Given the description of an element on the screen output the (x, y) to click on. 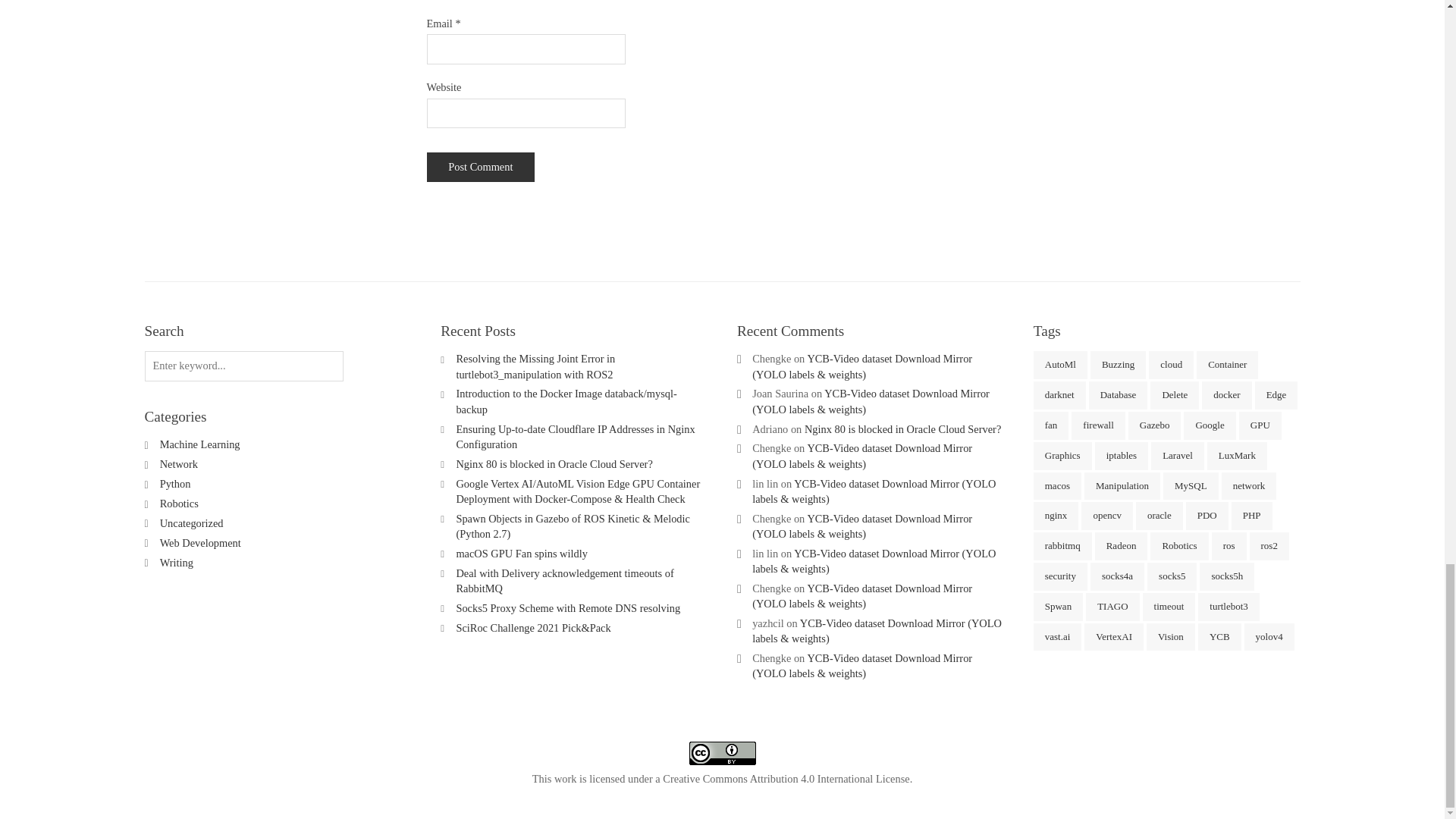
Post Comment (480, 166)
Post Comment (480, 166)
Python (175, 483)
Machine Learning (200, 444)
Deal with Delivery acknowledgement timeouts of RabbitMQ (563, 580)
Robotics (179, 503)
Uncategorized (192, 522)
macOS GPU Fan spins wildly (521, 553)
Nginx 80 is blocked in Oracle Cloud Server? (553, 463)
Socks5 Proxy Scheme with Remote DNS resolving (567, 607)
Web Development (200, 542)
Network (179, 463)
Writing (176, 562)
Nginx 80 is blocked in Oracle Cloud Server? (903, 428)
